Given the description of an element on the screen output the (x, y) to click on. 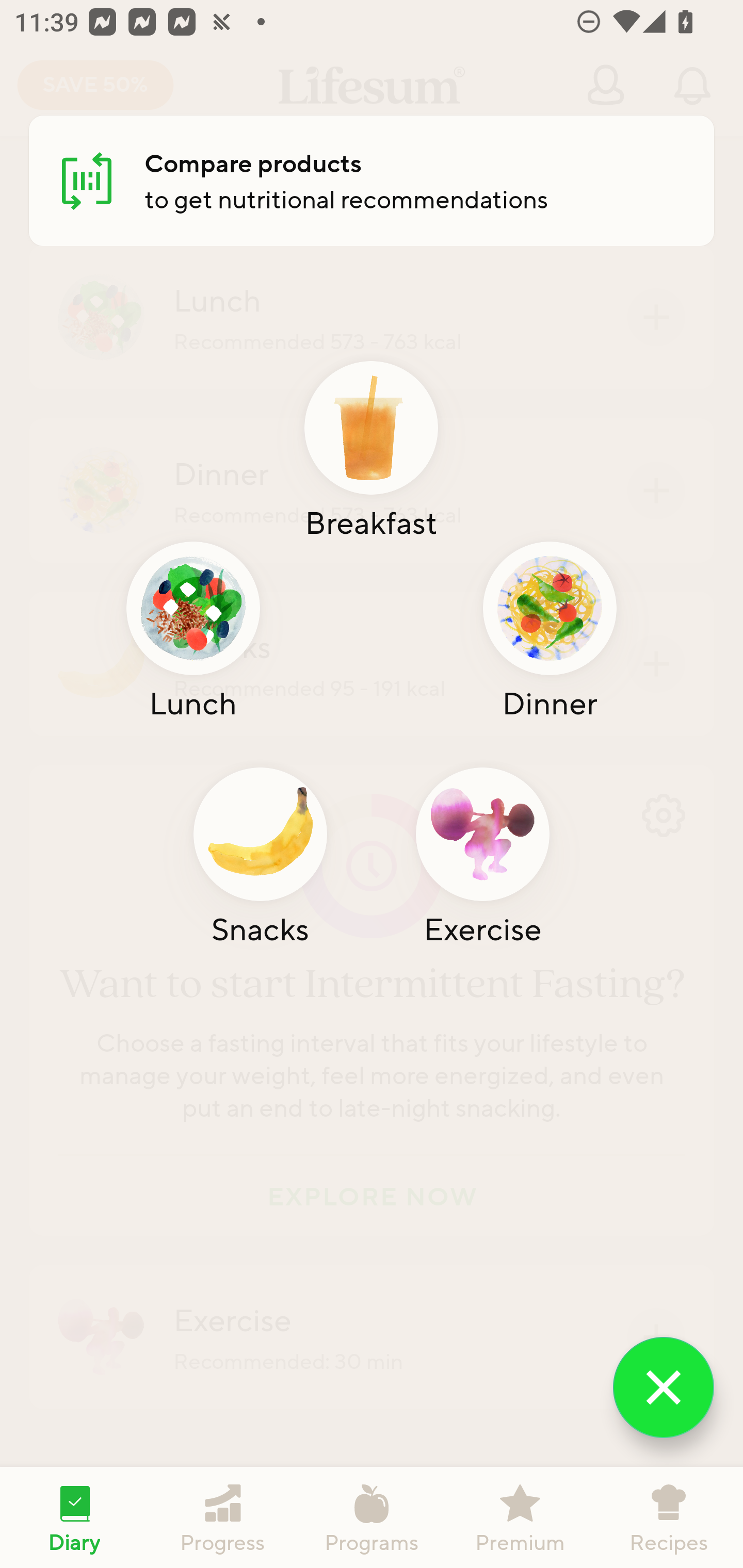
Progress (222, 1517)
Programs (371, 1517)
Premium (519, 1517)
Recipes (668, 1517)
